Given the description of an element on the screen output the (x, y) to click on. 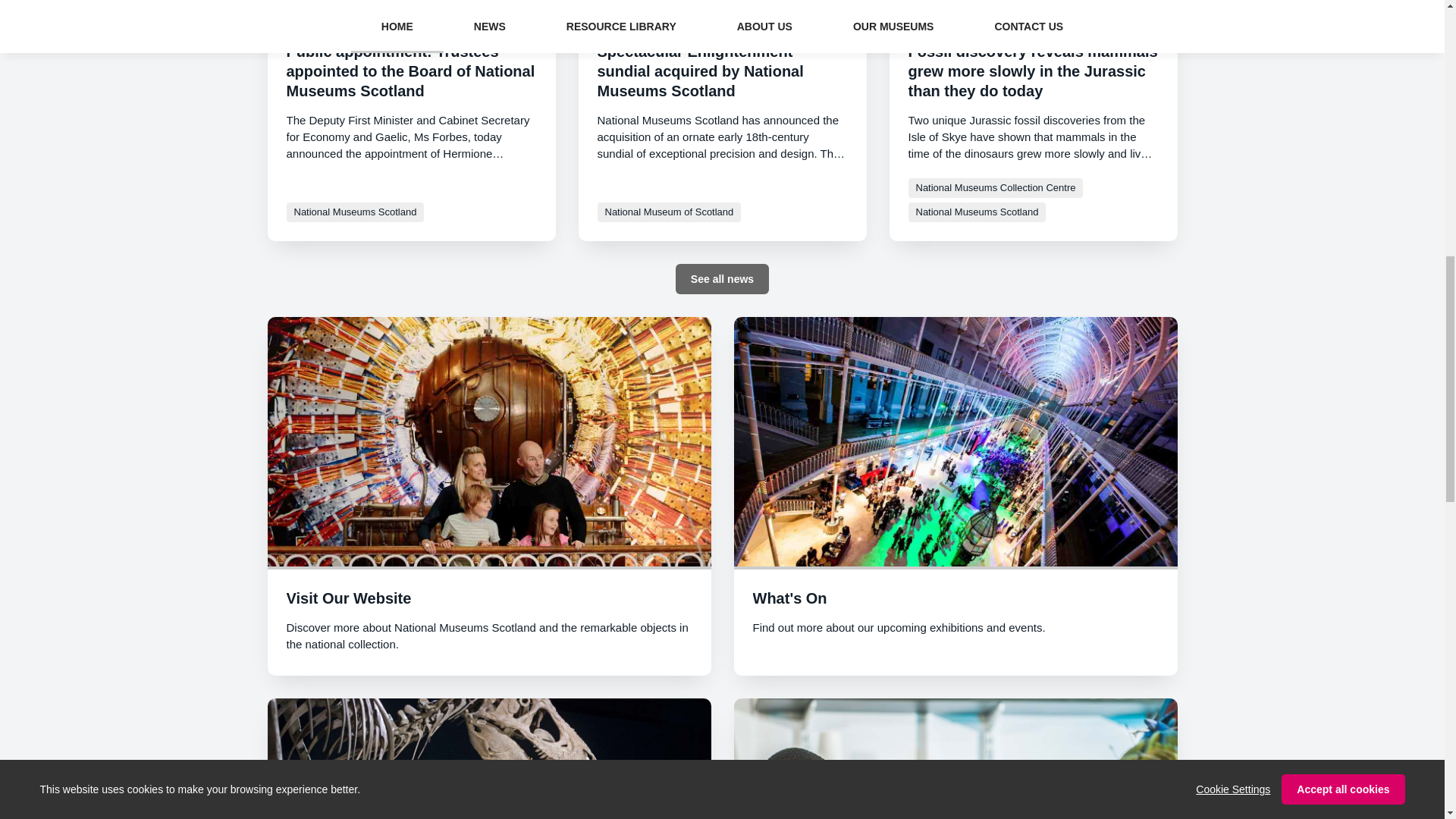
National Museums Scotland (355, 211)
See all news (721, 278)
